Given the description of an element on the screen output the (x, y) to click on. 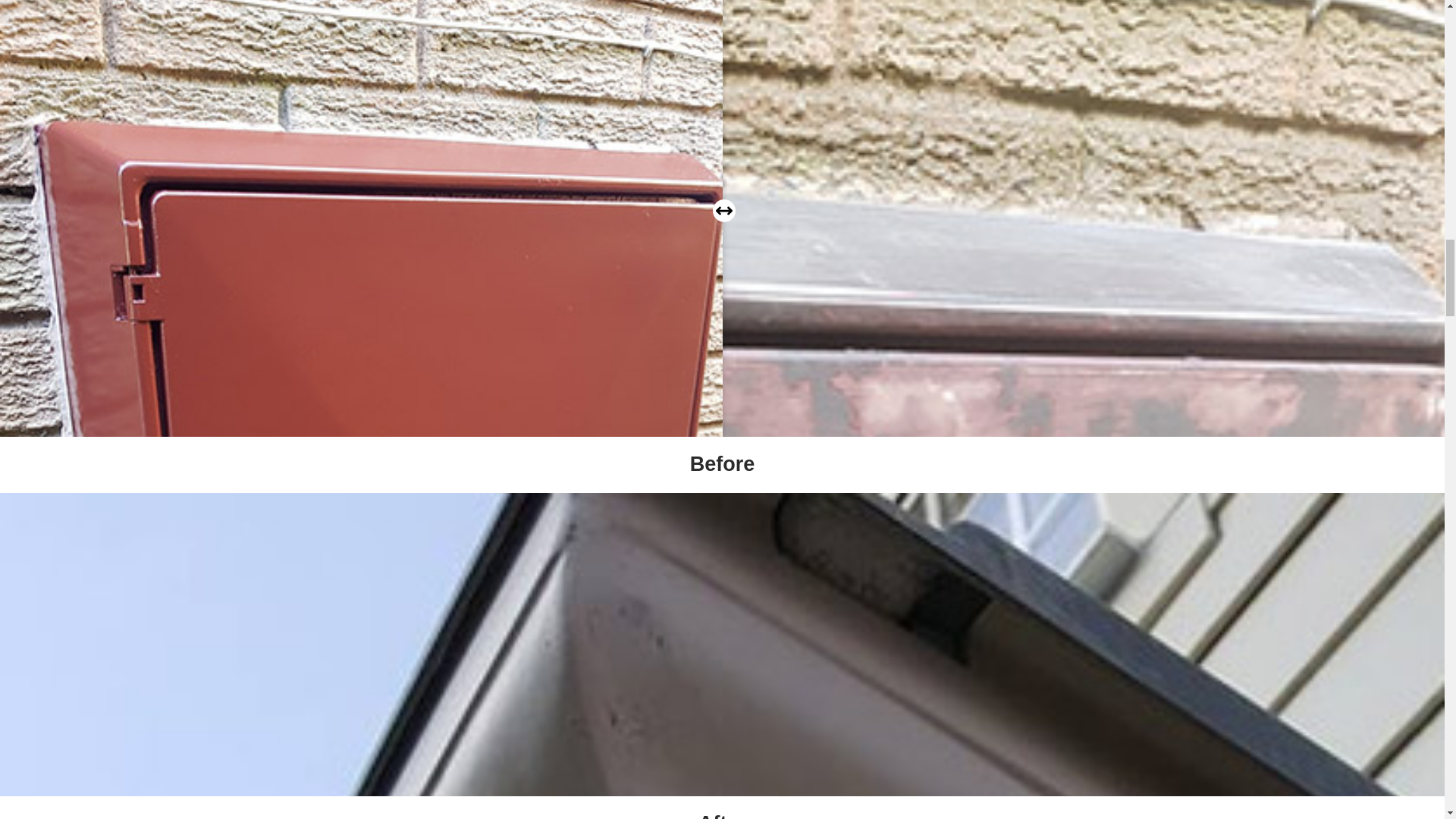
50 (723, 210)
